Given the description of an element on the screen output the (x, y) to click on. 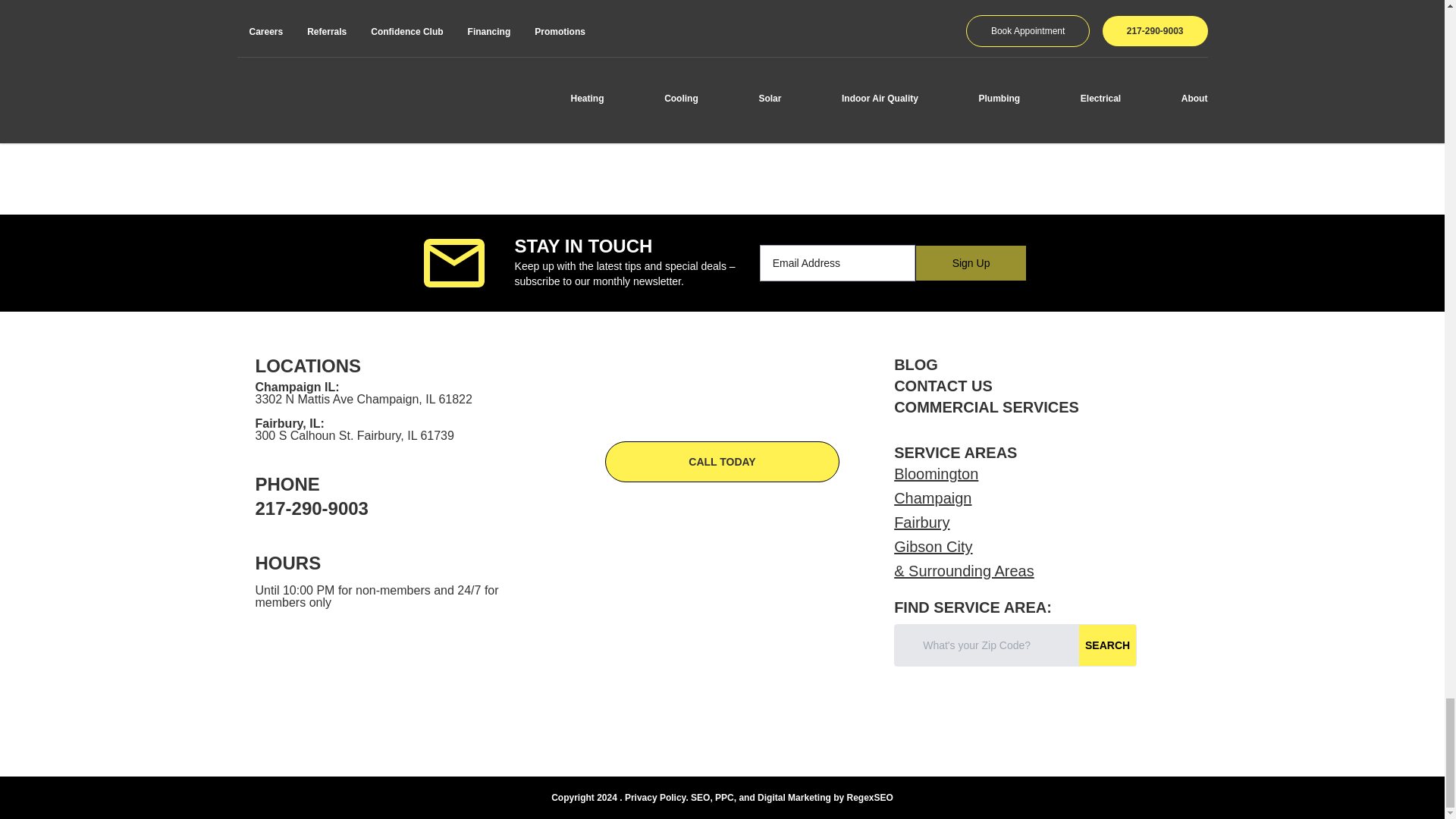
Search (1106, 644)
Sign Up (971, 262)
